Given the description of an element on the screen output the (x, y) to click on. 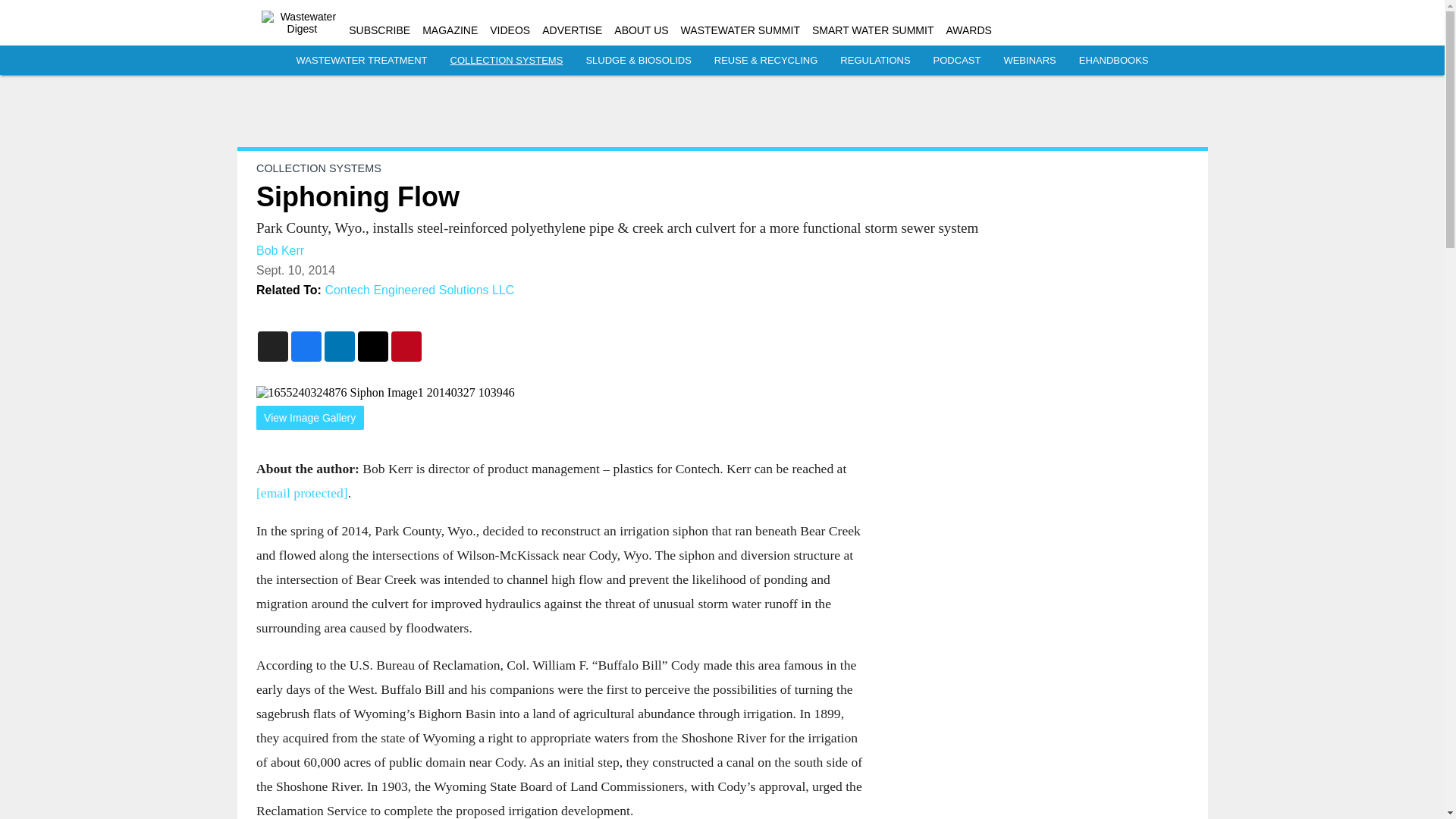
View Image Gallery (310, 417)
COLLECTION SYSTEMS (318, 168)
WEBINARS (1029, 60)
ADVERTISE (571, 30)
MAGAZINE (449, 30)
EHANDBOOKS (1113, 60)
COLLECTION SYSTEMS (506, 60)
PODCAST (957, 60)
ABOUT US (641, 30)
1655240324876 Siphon Image1 20140327 103946 (560, 392)
